Given the description of an element on the screen output the (x, y) to click on. 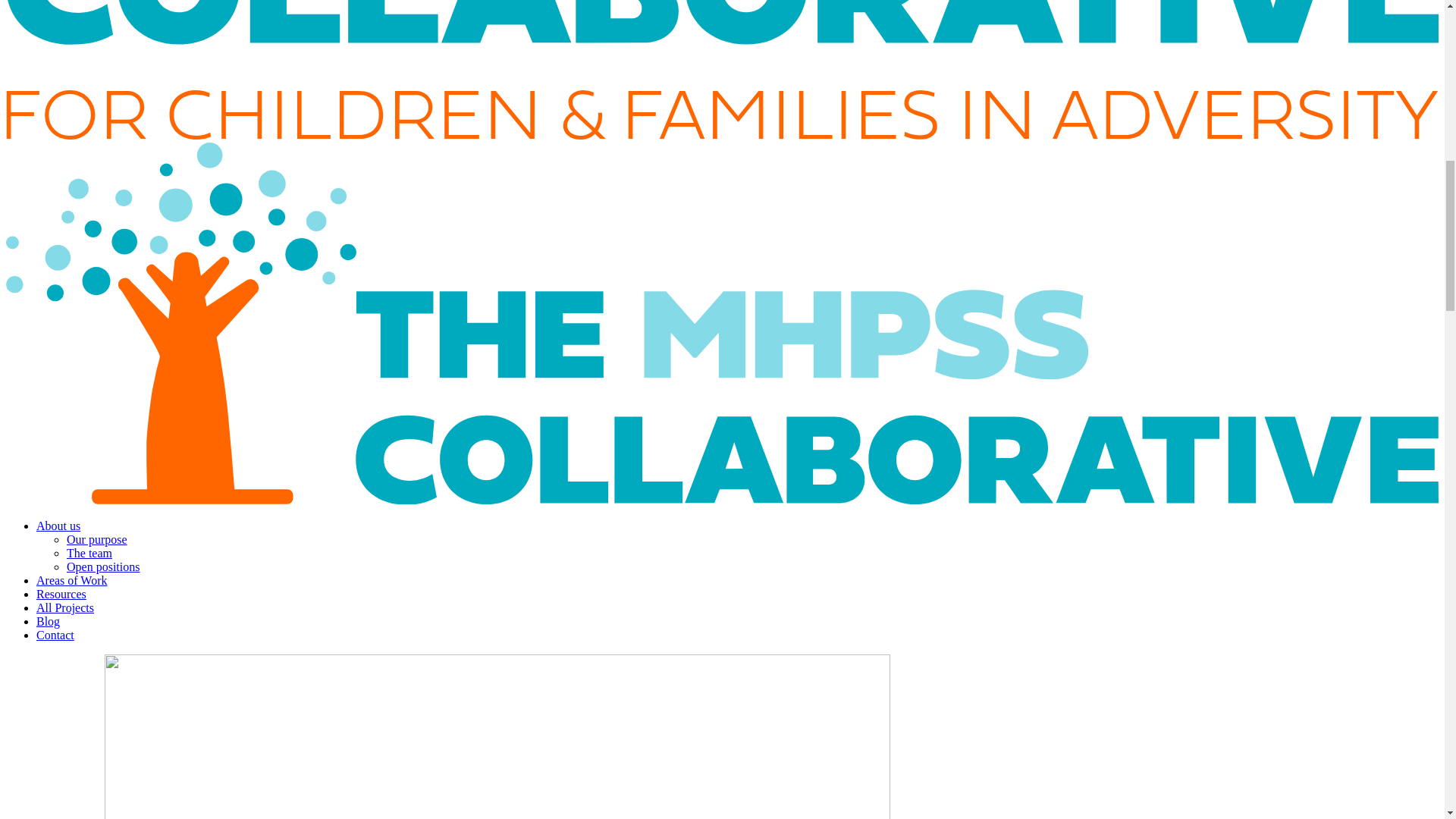
Open positions (102, 566)
Contact (55, 634)
Resources (60, 594)
About us (58, 525)
The team (89, 553)
Our purpose (97, 539)
All Projects (65, 607)
Areas of Work (71, 580)
Blog (47, 621)
